Given the description of an element on the screen output the (x, y) to click on. 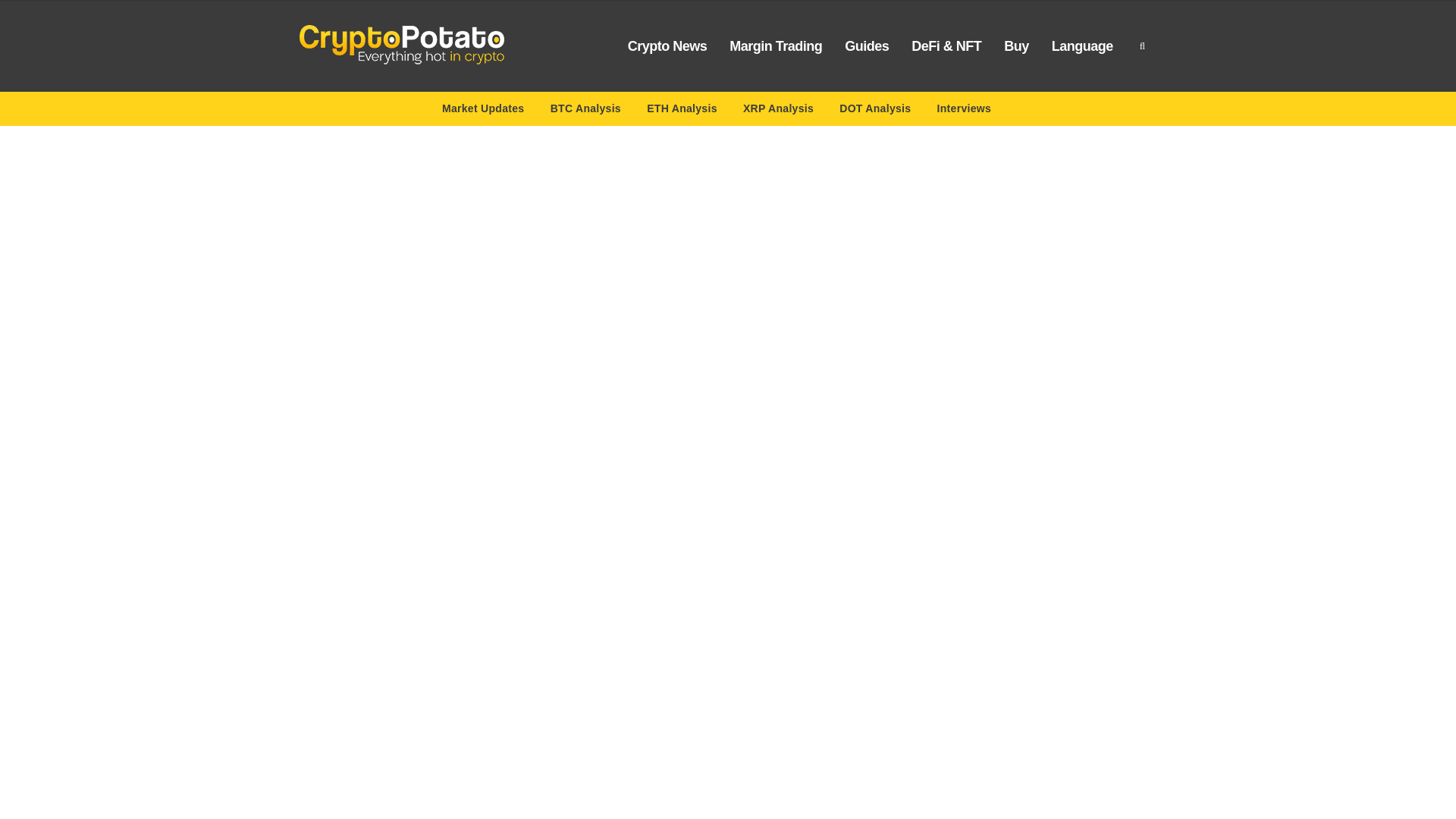
DOT Analysis (875, 110)
Market Updates (483, 110)
BTC Analysis (585, 110)
Language (1082, 45)
XRP Analysis (777, 110)
Margin Trading (774, 45)
Crypto News (667, 45)
Interviews (964, 110)
ETH Analysis (681, 110)
